Given the description of an element on the screen output the (x, y) to click on. 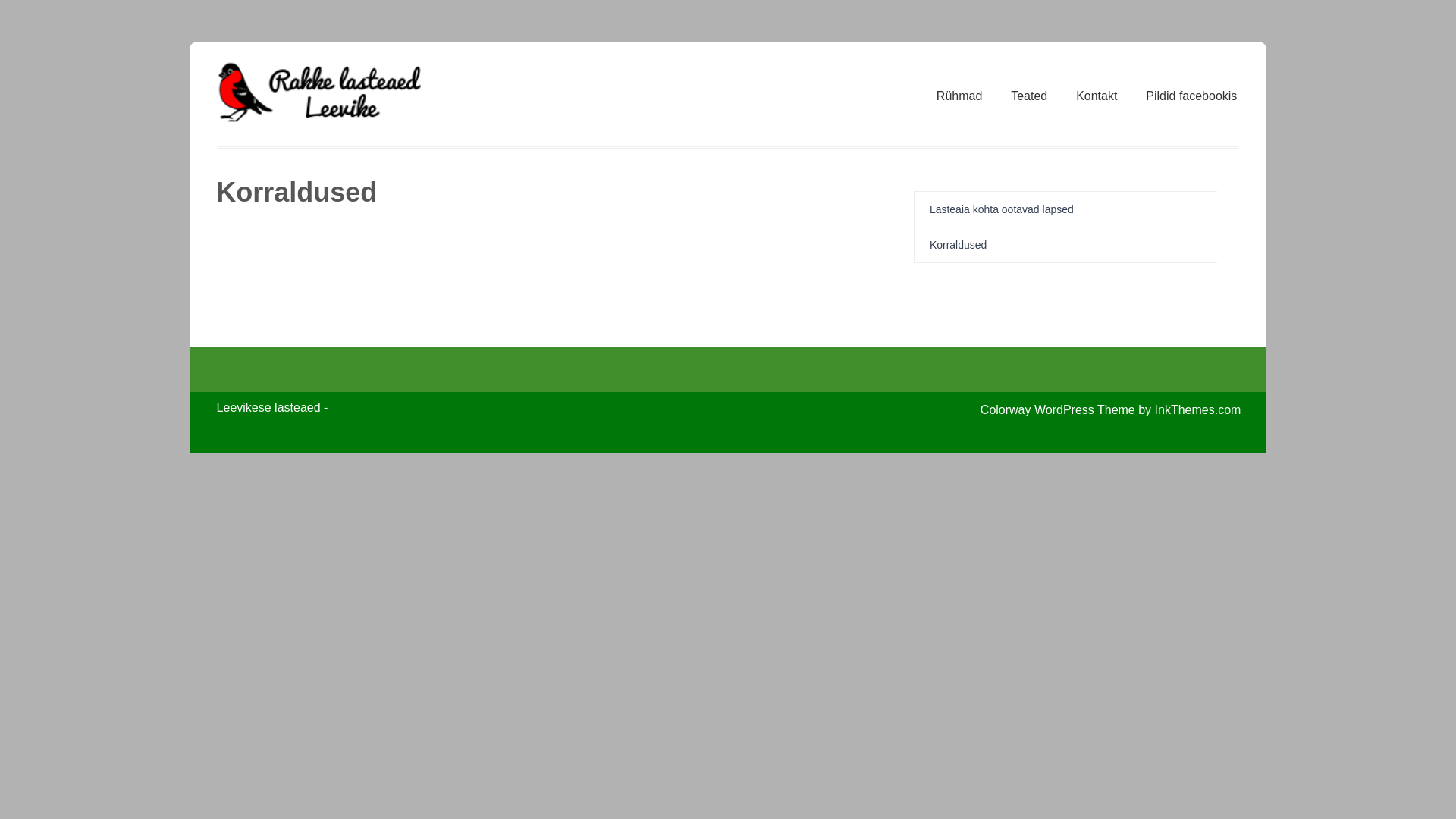
Pildid facebookis (1191, 96)
Korraldused (958, 244)
Kontakt (1096, 96)
Teated (1028, 96)
Lasteaia kohta ootavad lapsed (1002, 209)
